Given the description of an element on the screen output the (x, y) to click on. 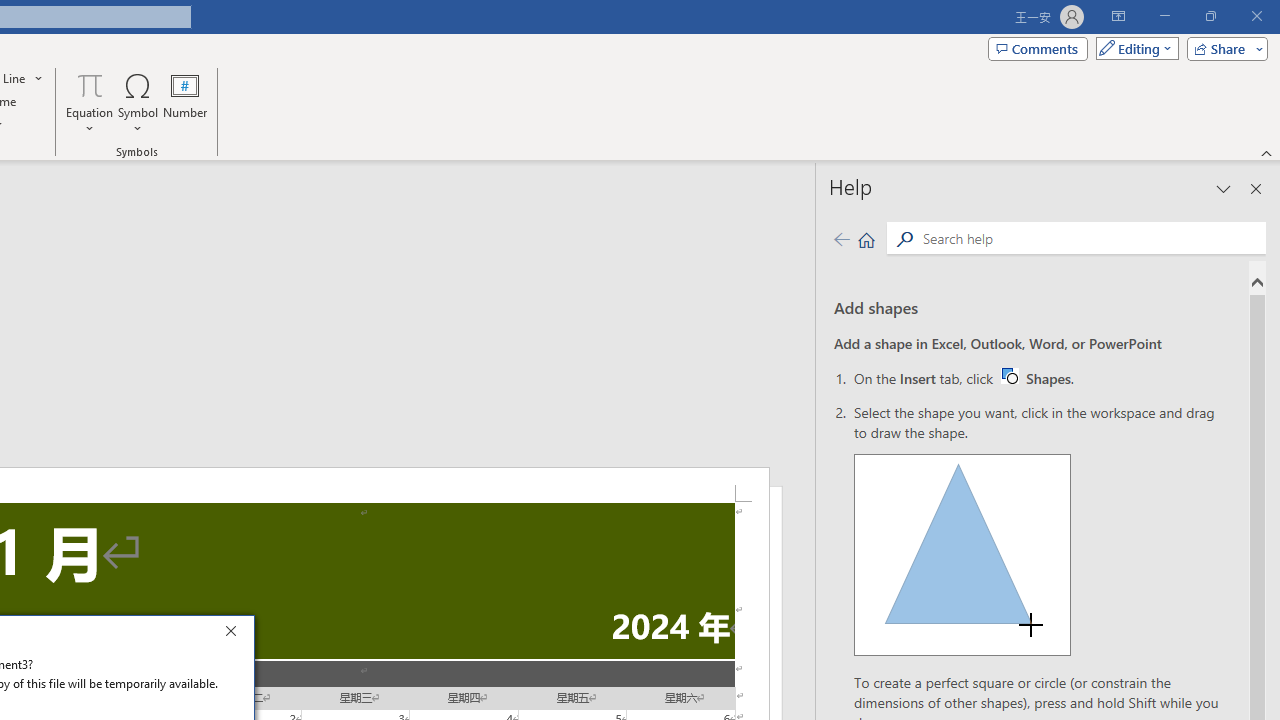
Word W32 Shapes button icon (1009, 375)
Number... (185, 102)
Drawing a shape (962, 554)
Symbol (138, 102)
Equation (90, 84)
Equation (90, 102)
